Given the description of an element on the screen output the (x, y) to click on. 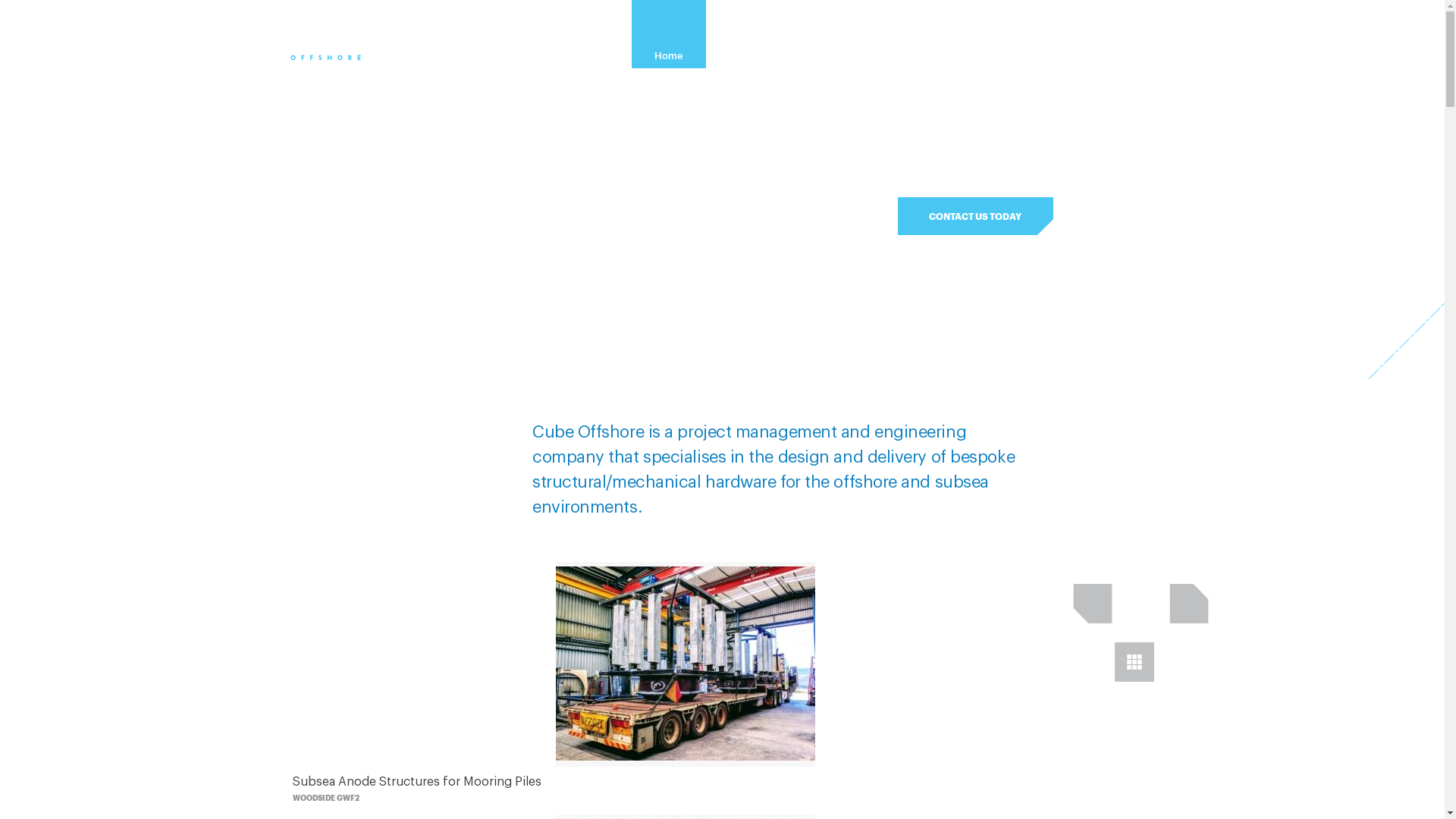
About Element type: text (742, 34)
Subsea Anode Structures for Mooring Piles
WOODSIDE GWF2 Element type: text (685, 688)
CONTACT US TODAY Element type: text (974, 215)
Projects Element type: text (821, 34)
Contact Element type: text (1068, 34)
Solutions Element type: text (909, 34)
Home Element type: text (667, 34)
News Element type: text (989, 34)
